Given the description of an element on the screen output the (x, y) to click on. 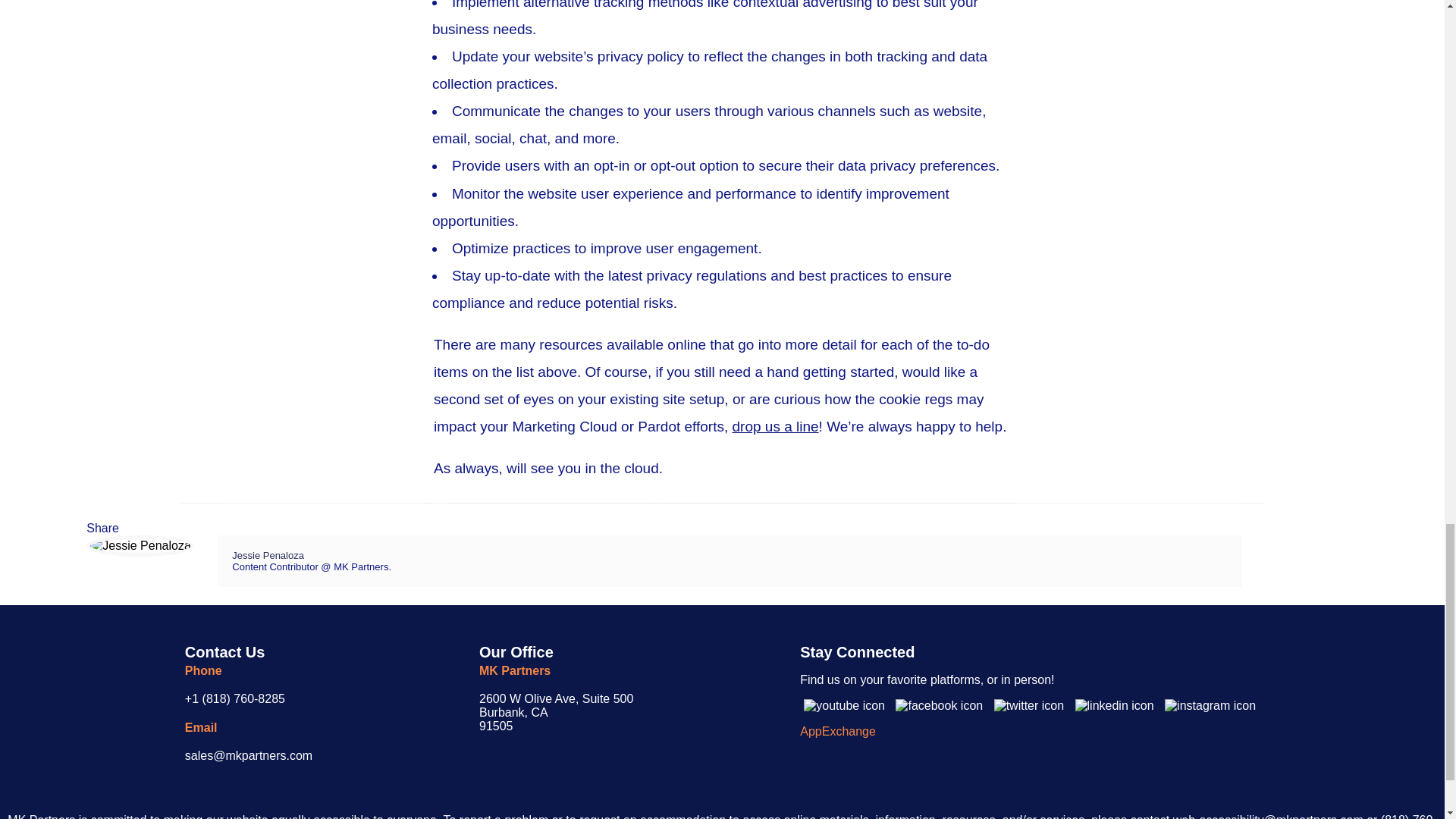
Jessie Penaloza (267, 555)
drop us a line (775, 426)
AppExchange (837, 730)
